Given the description of an element on the screen output the (x, y) to click on. 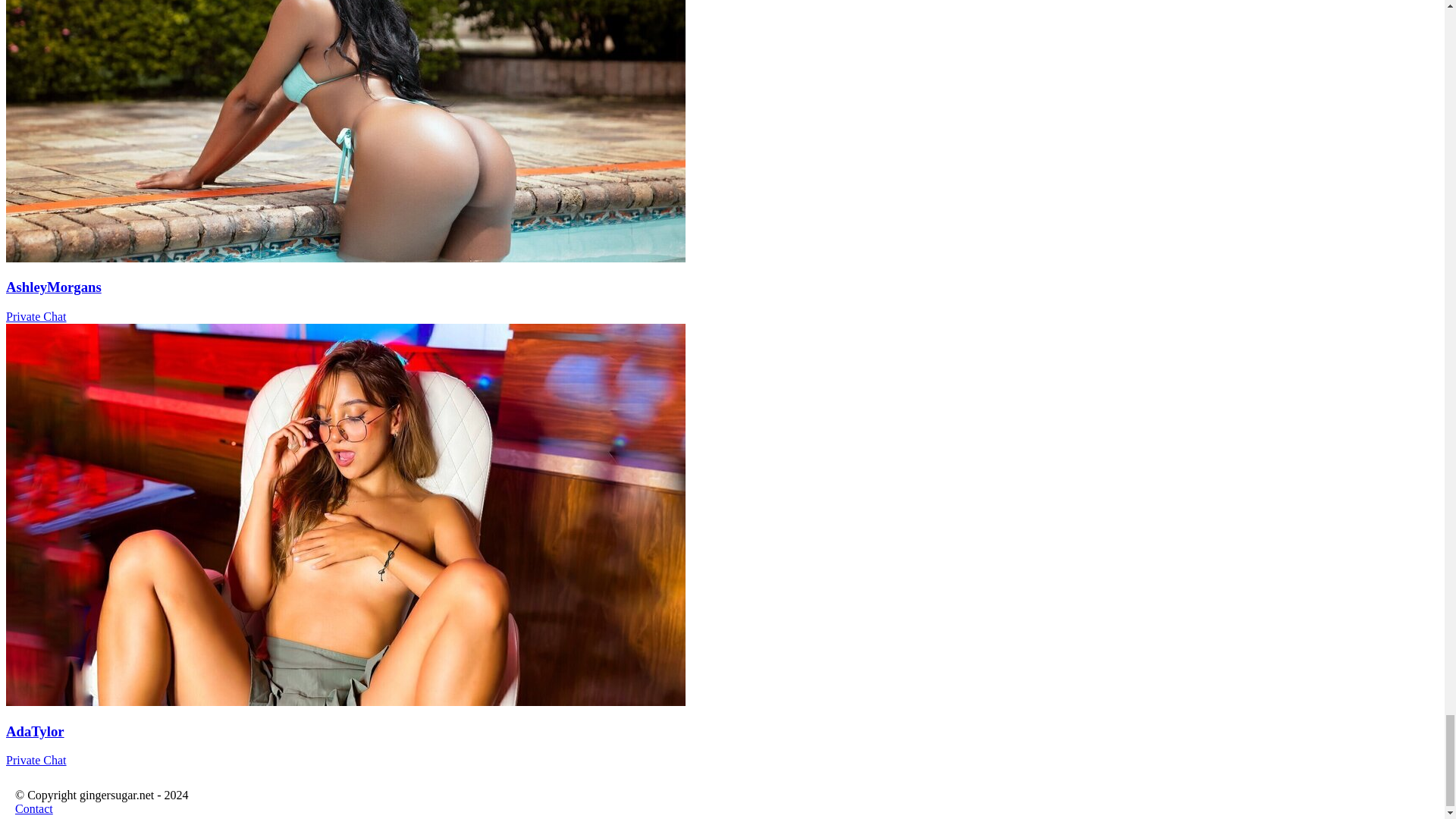
Contact (33, 808)
